Given the description of an element on the screen output the (x, y) to click on. 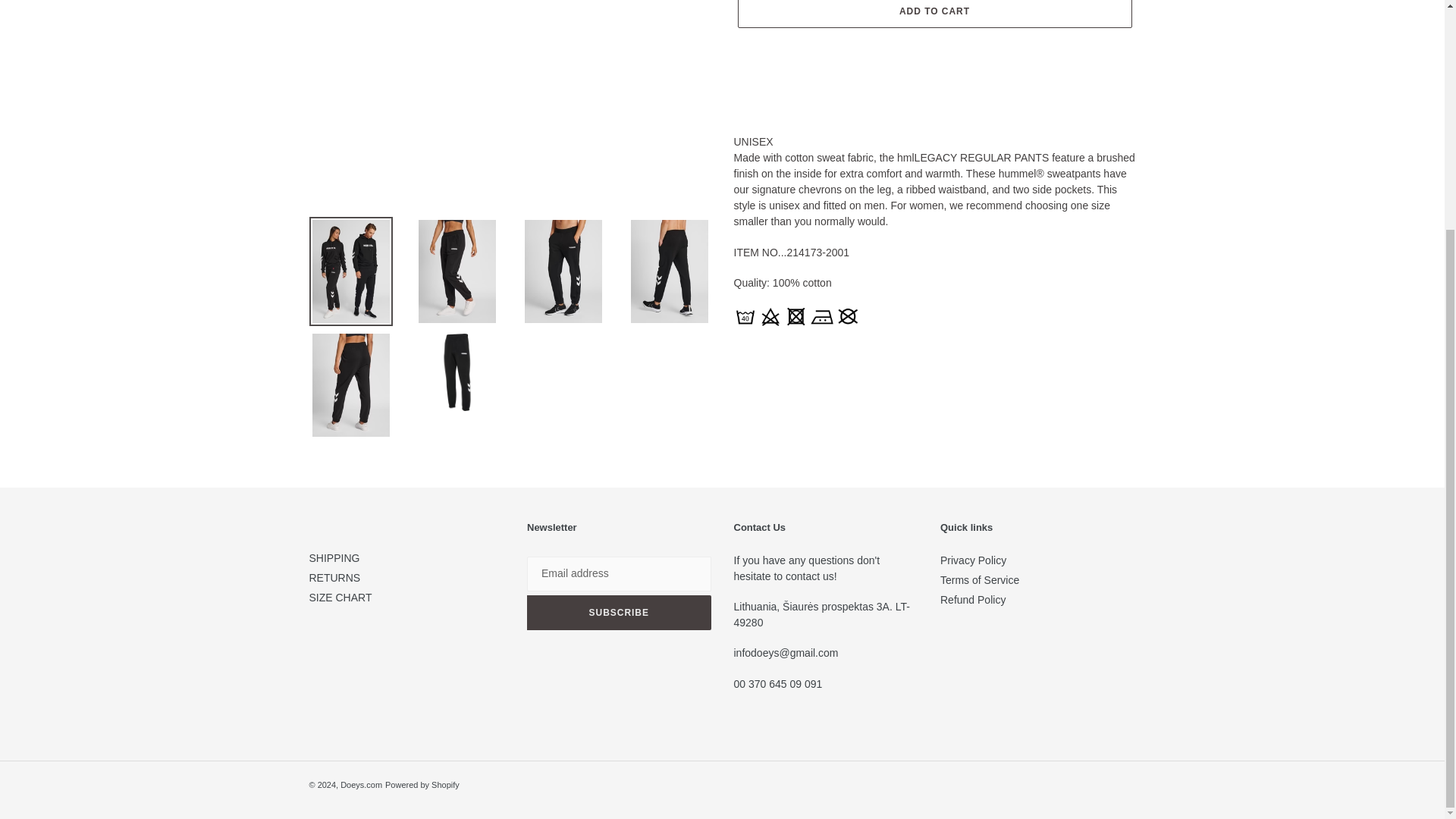
Do not tumble dry (796, 315)
Do not clean (847, 315)
Do not bleach (769, 315)
Iron at medium temperature (821, 315)
Machine wash at 40 degrees (745, 315)
